Given the description of an element on the screen output the (x, y) to click on. 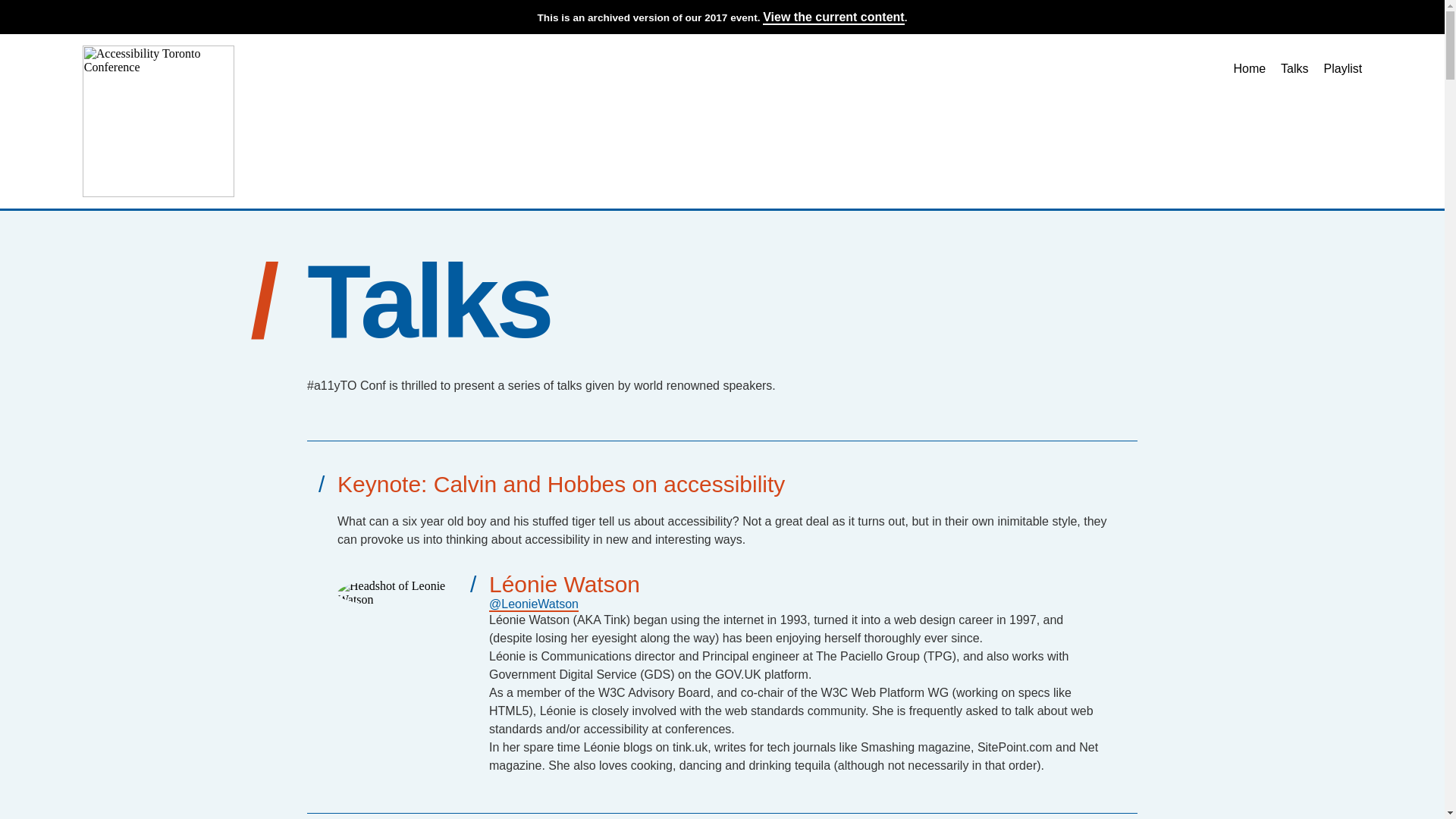
Talks (1294, 68)
View the current content (833, 17)
Playlist (1342, 68)
Home (1249, 68)
